Given the description of an element on the screen output the (x, y) to click on. 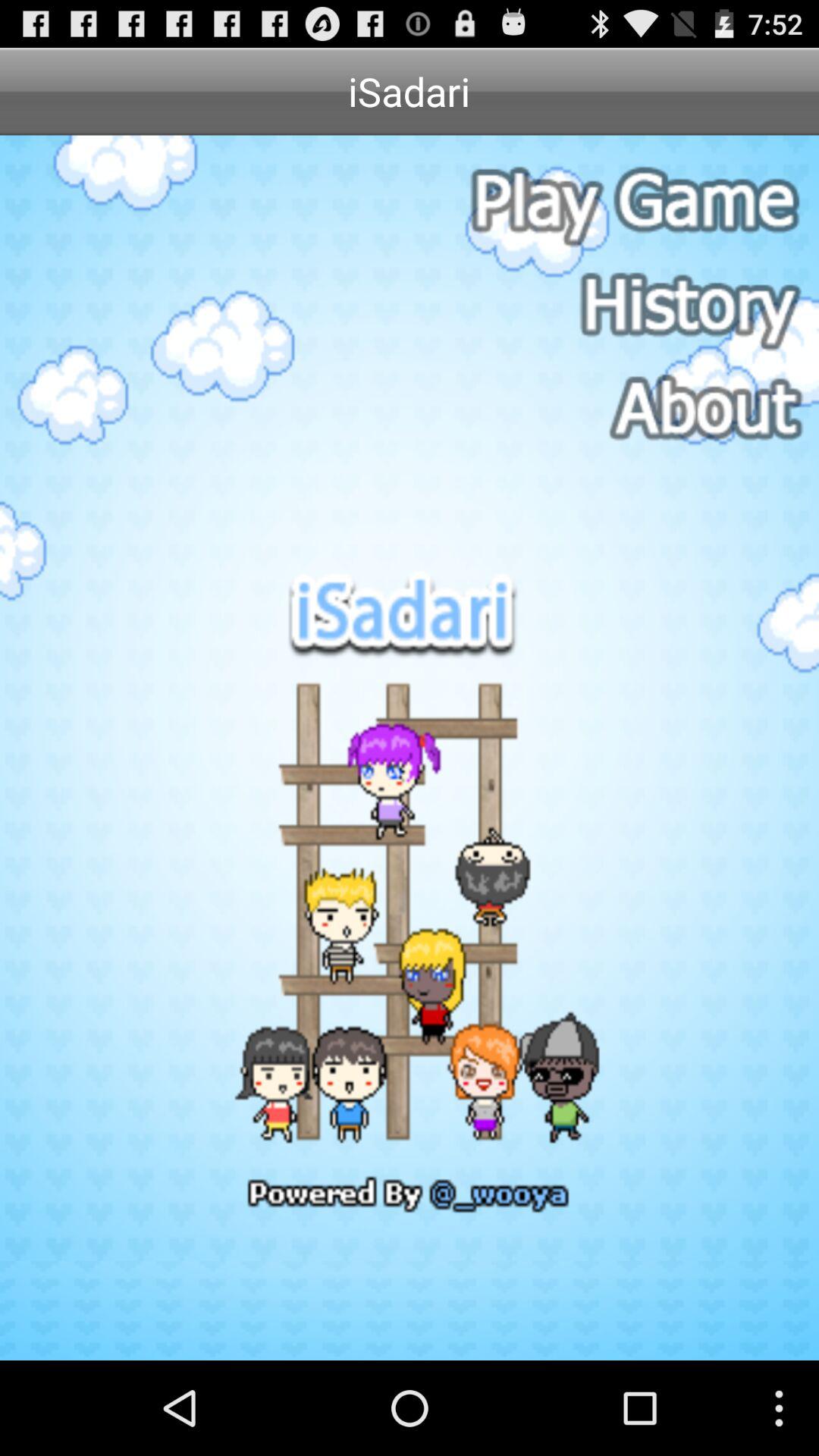
open history (631, 305)
